Given the description of an element on the screen output the (x, y) to click on. 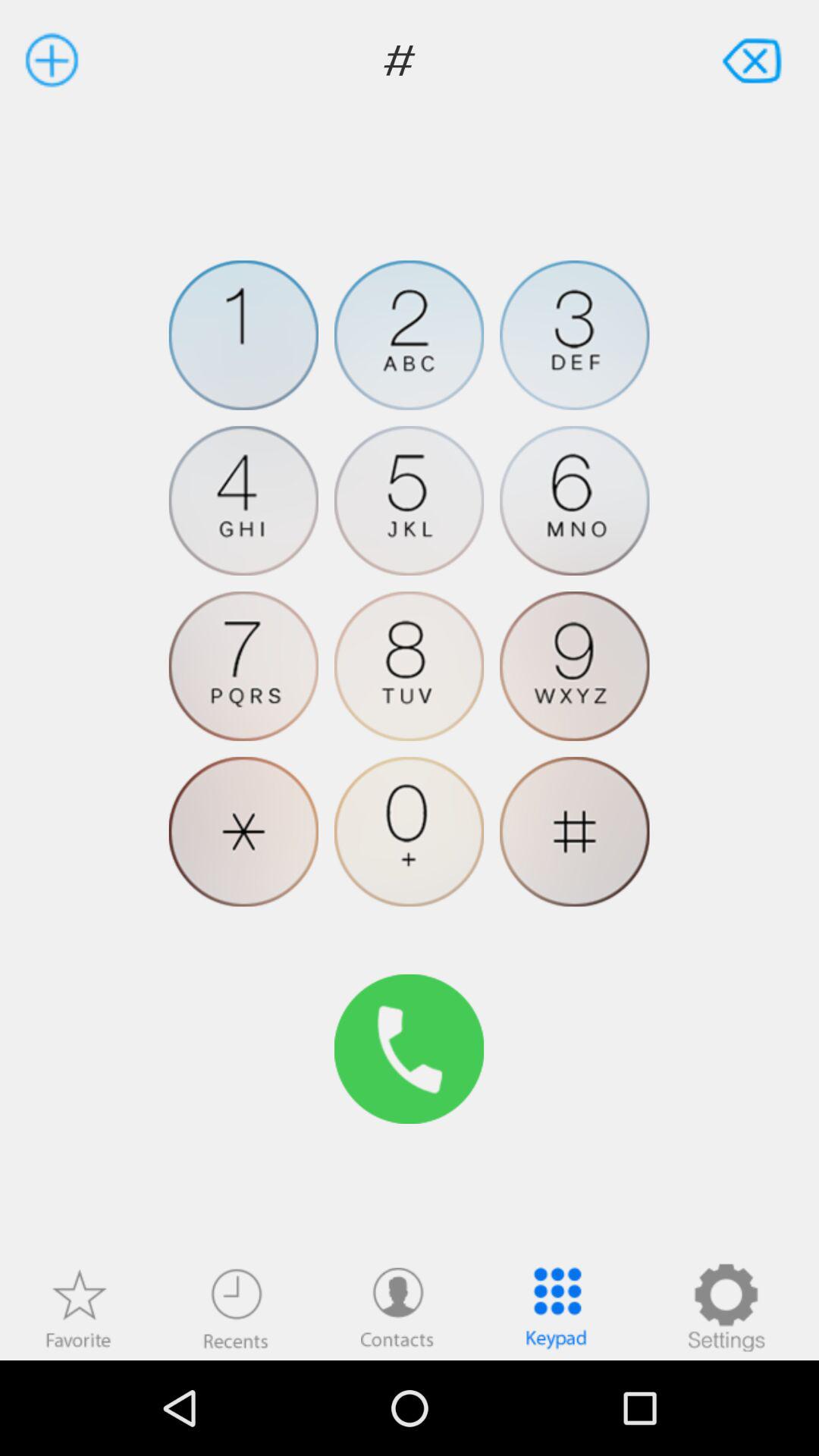
dial number 7 (243, 666)
